Given the description of an element on the screen output the (x, y) to click on. 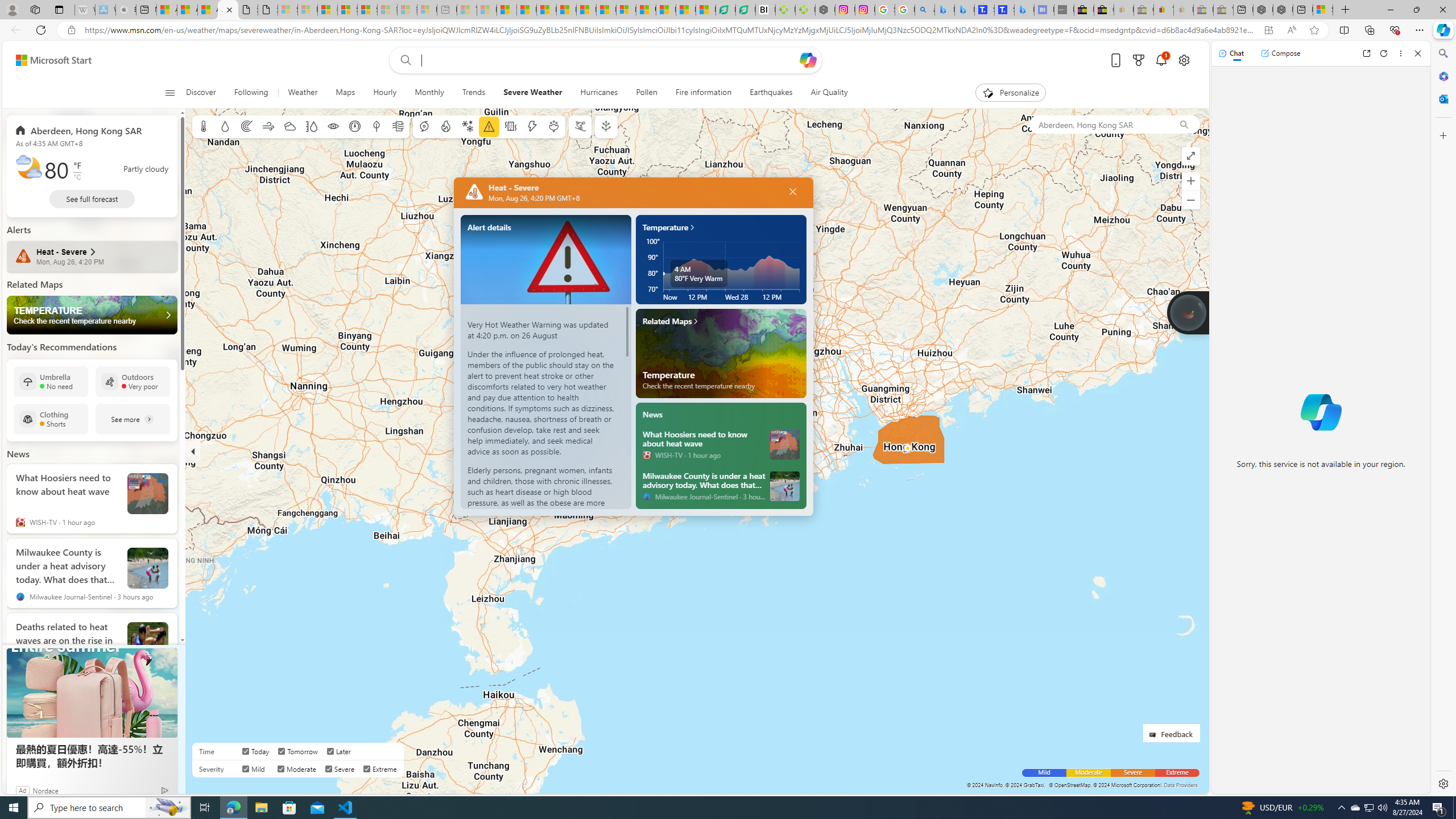
Lightning (532, 126)
Outdoors Very poor (133, 381)
Descarga Driver Updater (804, 9)
Temperature (721, 222)
What Hoosiers need to know about heat wave (703, 438)
Microsoft Bing Travel - Shangri-La Hotel Bangkok (1024, 9)
US Heat Deaths Soared To Record High Last Year (646, 9)
Yard, Garden & Outdoor Living - Sleeping (1222, 9)
Aberdeen, Hong Kong SAR (1098, 124)
Severe weather (489, 126)
